Given the description of an element on the screen output the (x, y) to click on. 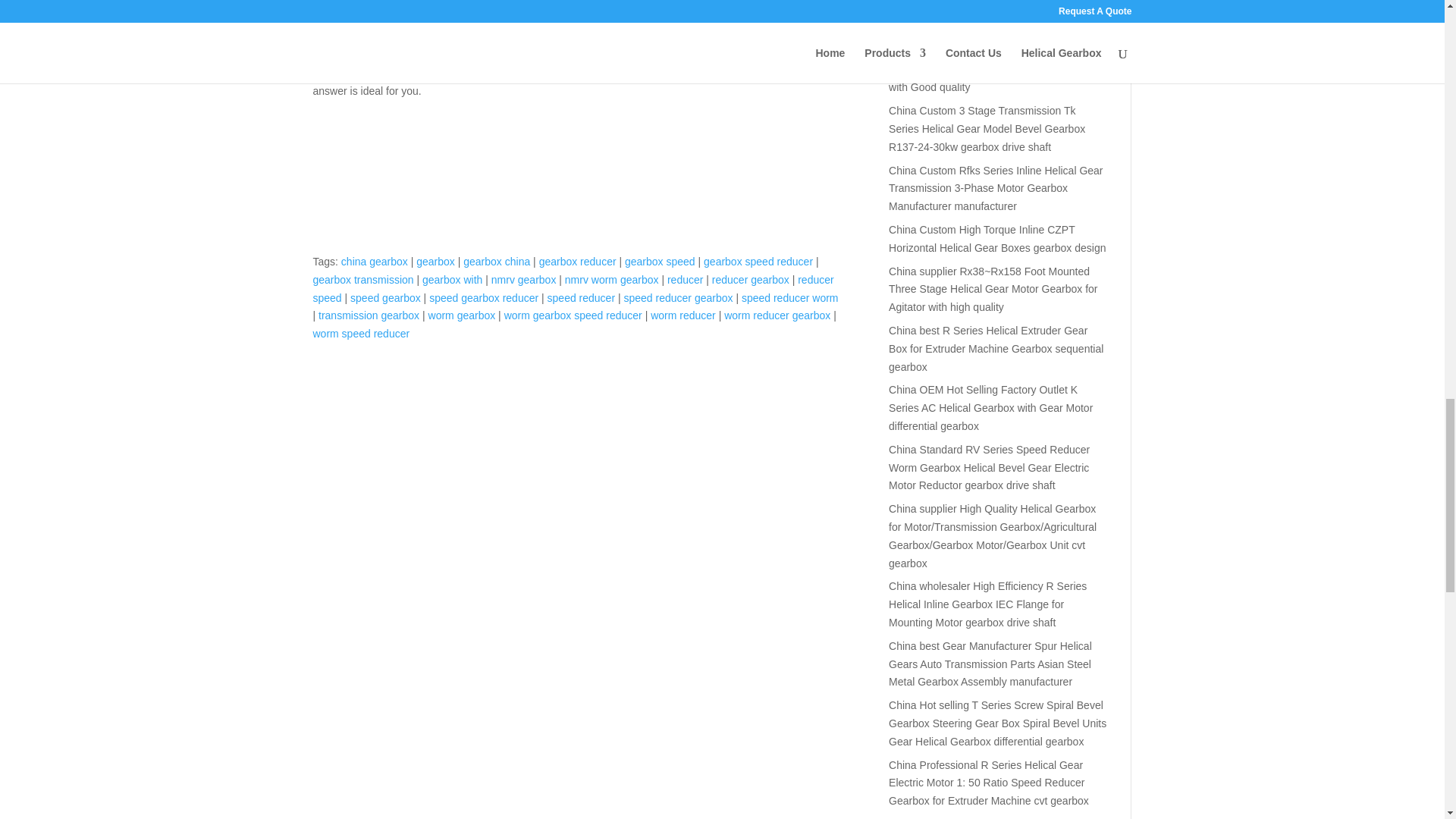
reducer gearbox (750, 279)
china gearbox (373, 261)
gearbox china (496, 261)
gearbox (435, 261)
reducer speed (572, 288)
worm speed reducer (361, 333)
speed gearbox reducer (483, 297)
gearbox speed (659, 261)
worm reducer gearbox (776, 315)
worm gearbox speed reducer (572, 315)
speed reducer (581, 297)
speed gearbox (385, 297)
reducer (684, 279)
speed reducer gearbox (677, 297)
nmrv worm gearbox (611, 279)
